Given the description of an element on the screen output the (x, y) to click on. 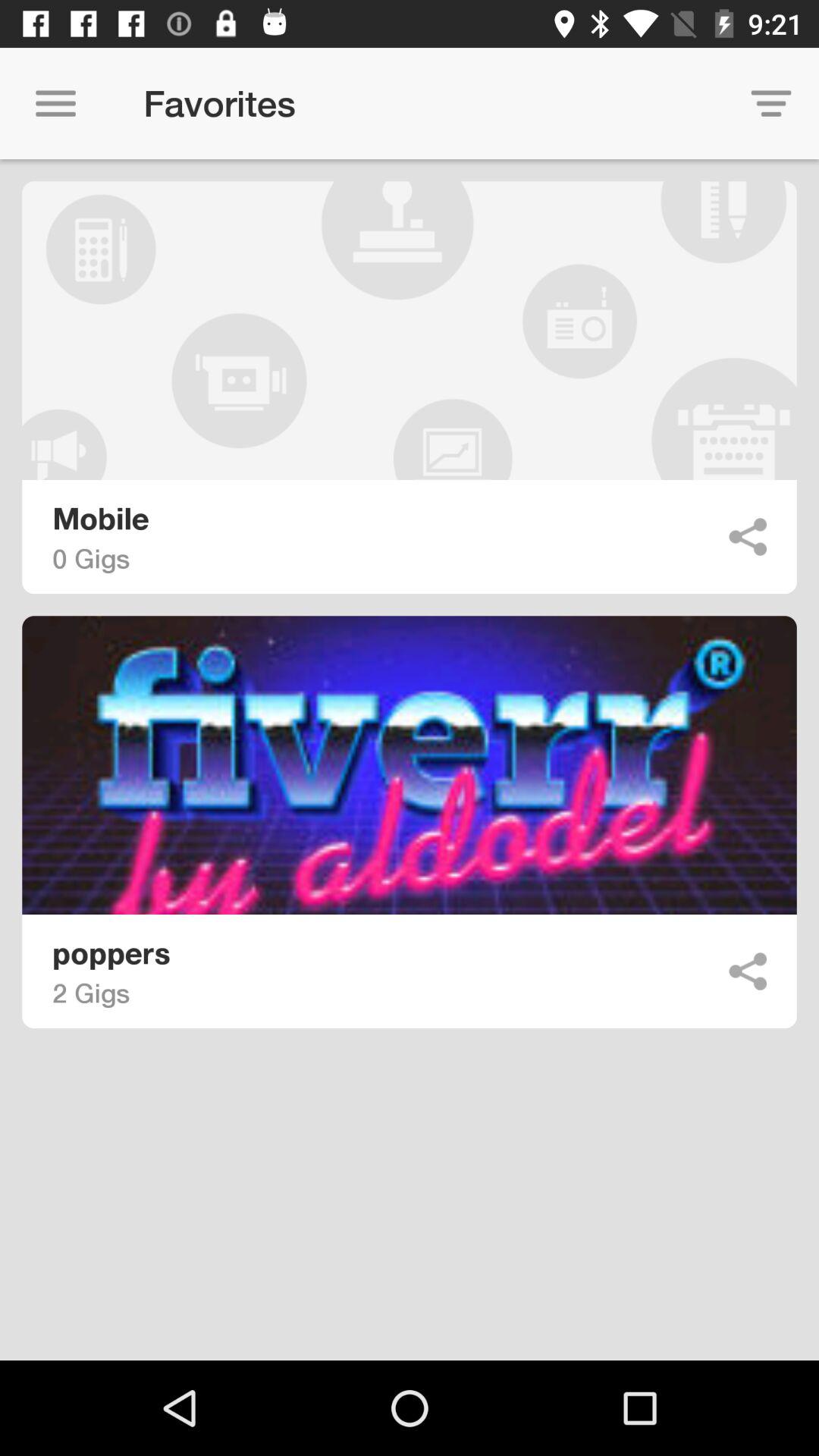
go back (747, 971)
